Given the description of an element on the screen output the (x, y) to click on. 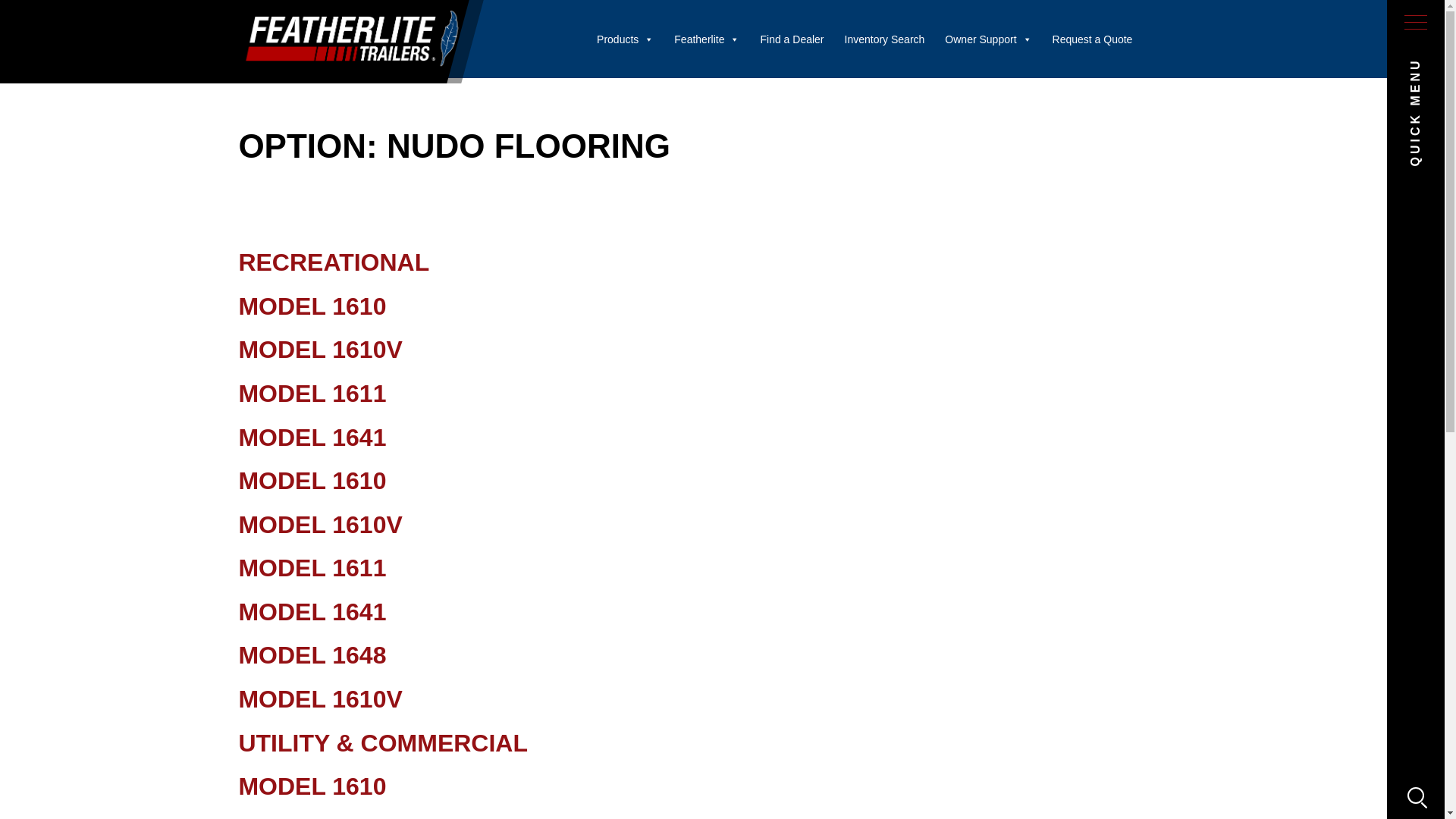
Model 1610 (311, 480)
Model 1610V (319, 349)
Model 1611 (311, 393)
Model 1610 (311, 786)
Model 1648 (311, 655)
Model 1610V (319, 524)
Model 1610V (319, 698)
Model 1610 (311, 306)
Model 1641 (311, 611)
Model 1641 (311, 436)
Recreational (333, 262)
Model 1611 (311, 567)
Model 1610V (319, 817)
